Given the description of an element on the screen output the (x, y) to click on. 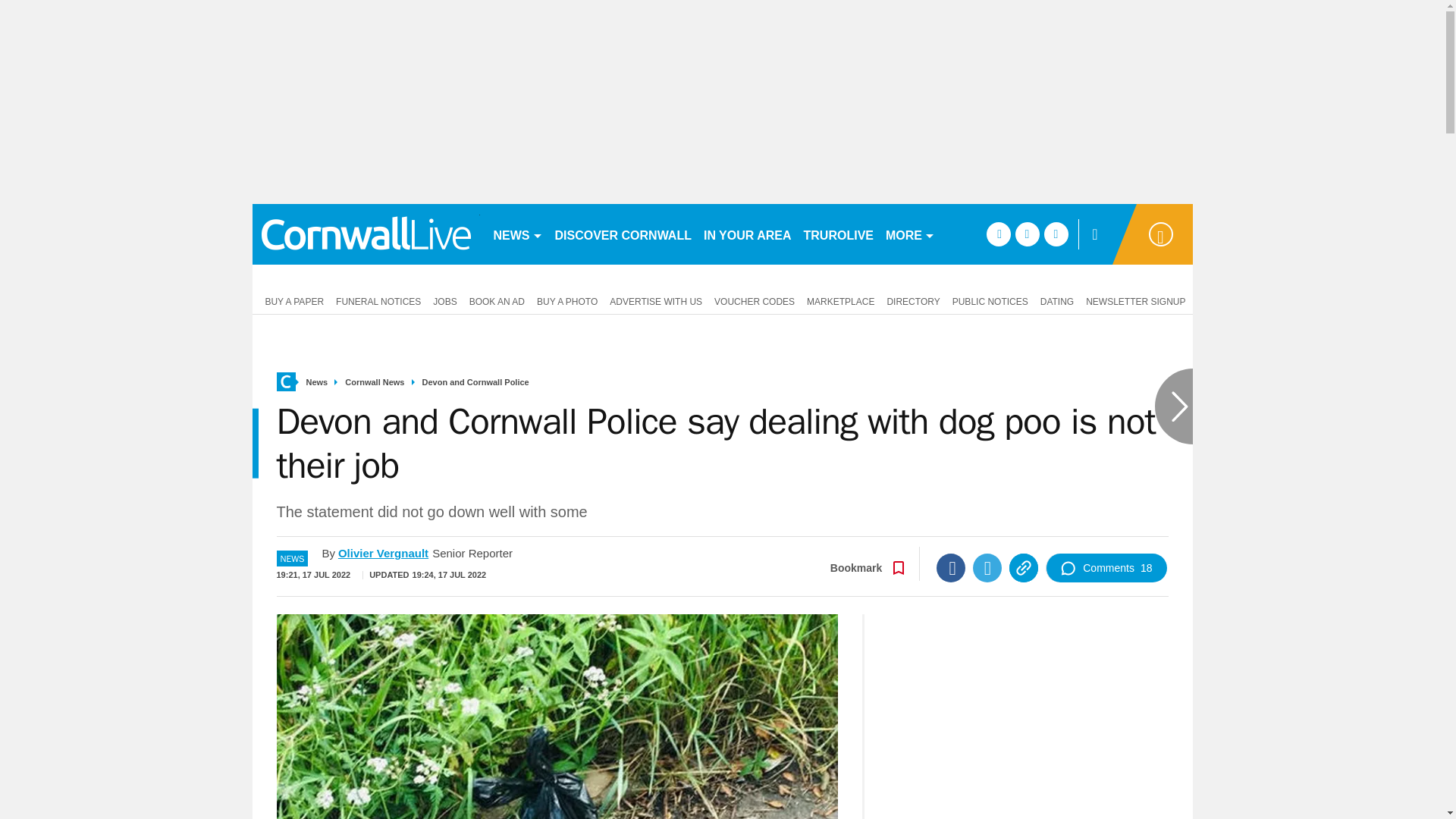
IN YOUR AREA (747, 233)
Facebook (950, 567)
MORE (909, 233)
facebook (997, 233)
Twitter (986, 567)
Comments (1105, 567)
cornwalllive (365, 233)
twitter (1026, 233)
instagram (1055, 233)
TRUROLIVE (838, 233)
